Given the description of an element on the screen output the (x, y) to click on. 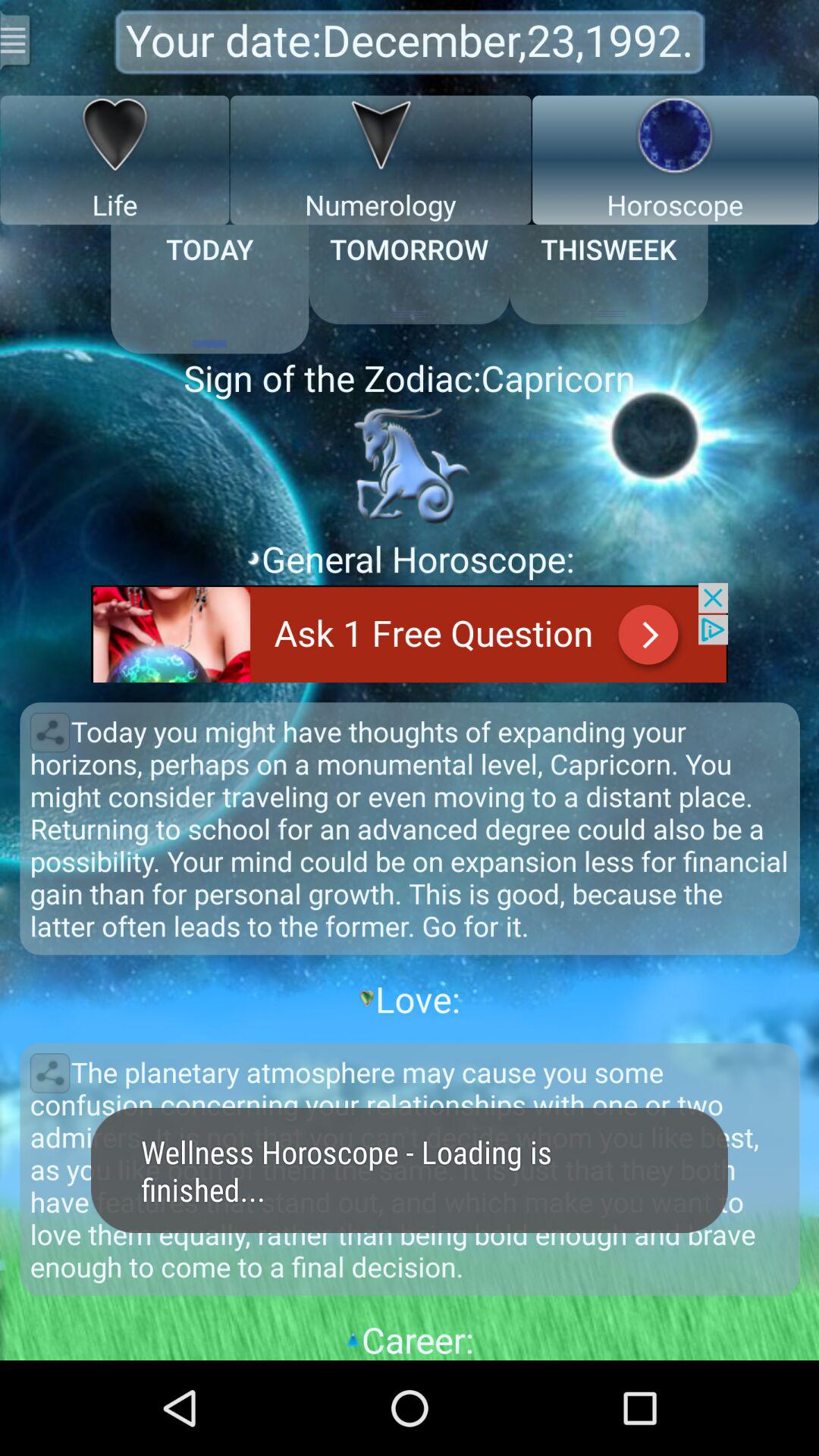
select the menu option (17, 39)
